Given the description of an element on the screen output the (x, y) to click on. 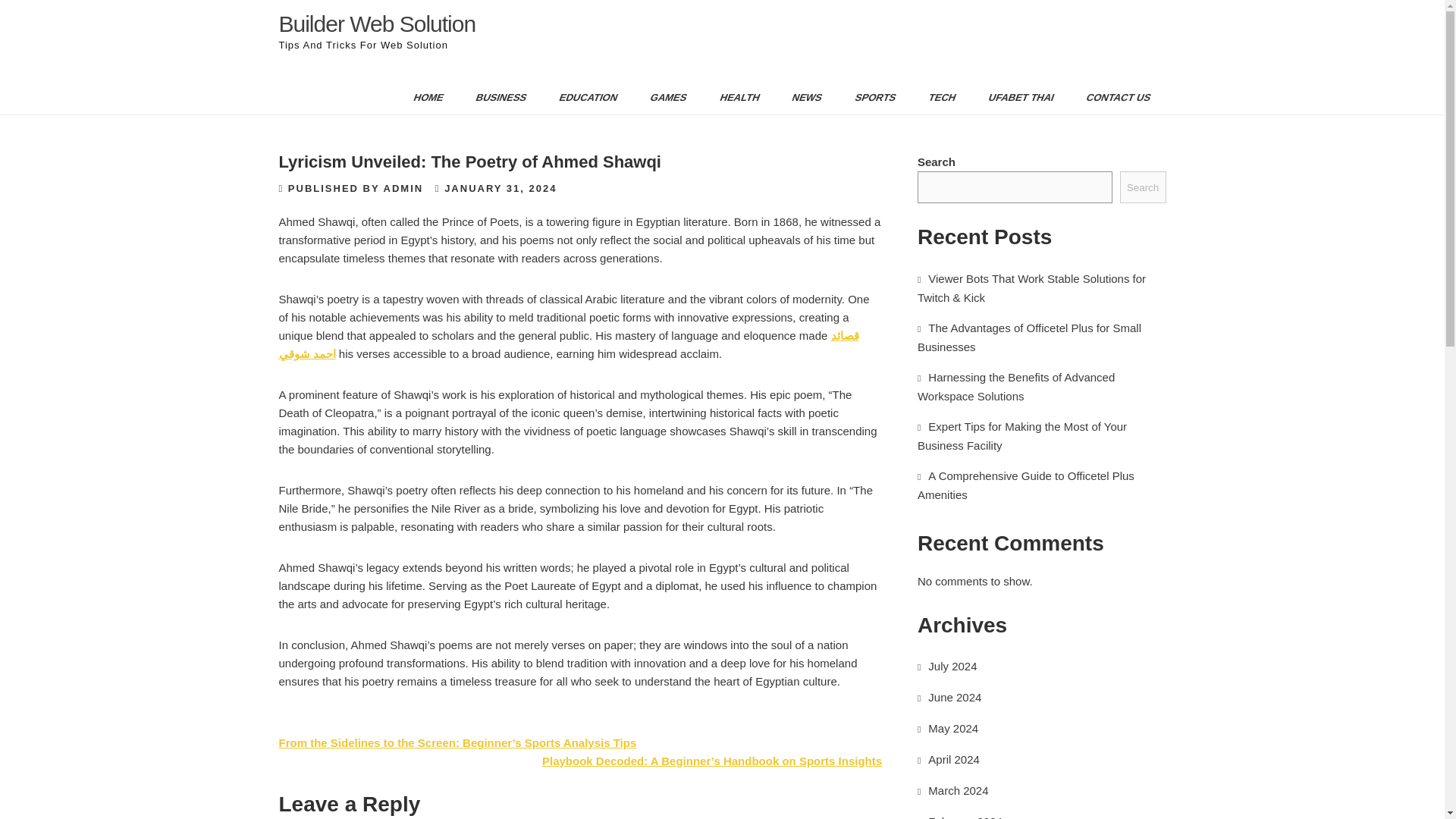
NEWS (801, 97)
HOME (422, 97)
A Comprehensive Guide to Officetel Plus Amenities (1025, 485)
SPORTS (869, 97)
CONTACT US (1111, 97)
Expert Tips for Making the Most of Your Business Facility (1021, 436)
May 2024 (953, 727)
EDUCATION (582, 97)
April 2024 (953, 758)
June 2024 (954, 697)
The Advantages of Officetel Plus for Small Businesses (1029, 336)
July 2024 (952, 666)
February 2024 (965, 816)
Search (1142, 187)
UFABET THAI (1015, 97)
